Given the description of an element on the screen output the (x, y) to click on. 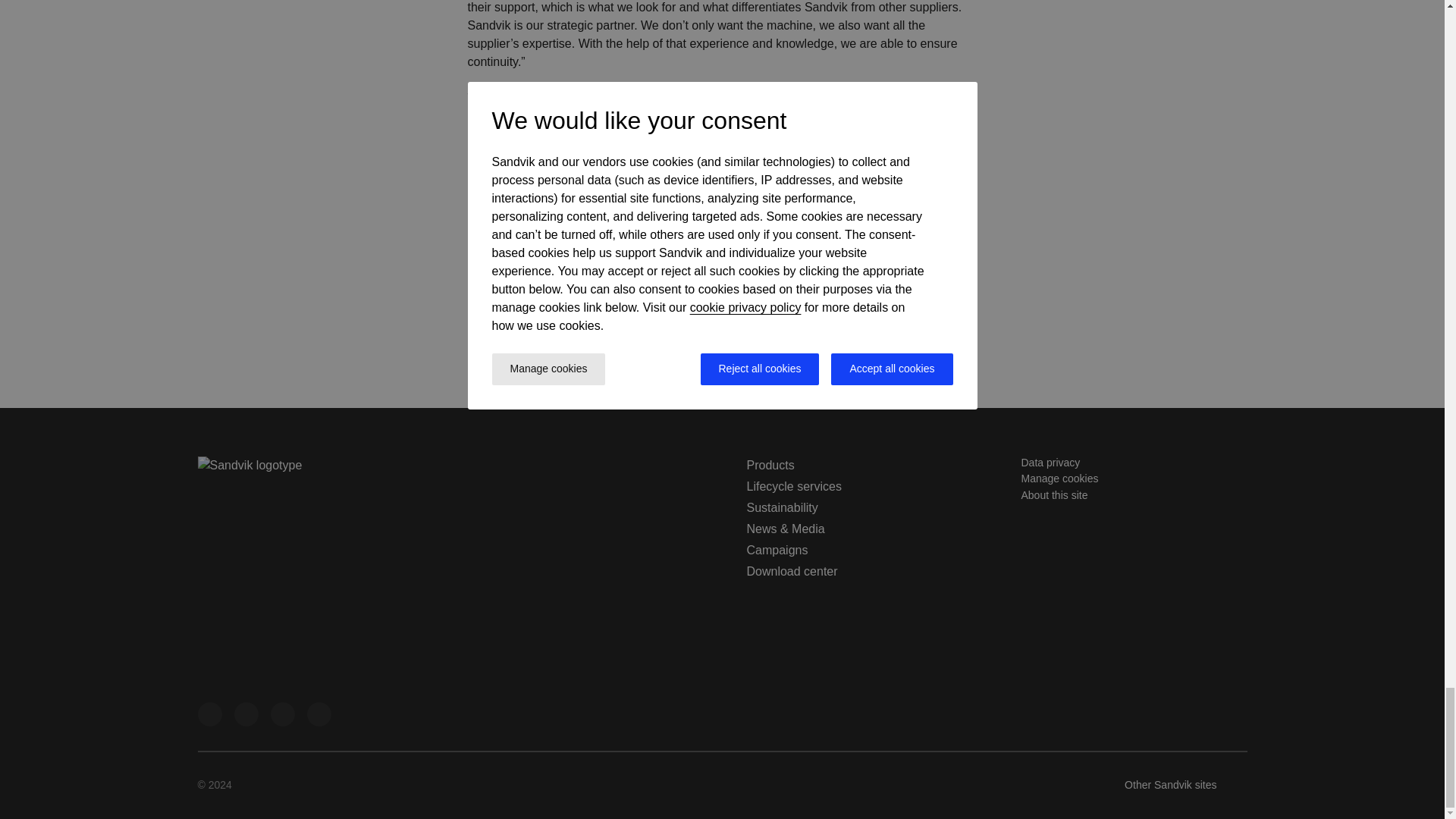
Data privacy (1050, 462)
Other Sandvik sites (1185, 785)
Sandvik Rock Processing Solutions (281, 713)
Products (769, 464)
Sustainability (780, 507)
Manage cookies (1058, 478)
Sandvik Rock Processing Solutions (208, 713)
Download center (791, 571)
About this site (1053, 494)
Sandvik Rock Processing - Youtube (317, 713)
